Given the description of an element on the screen output the (x, y) to click on. 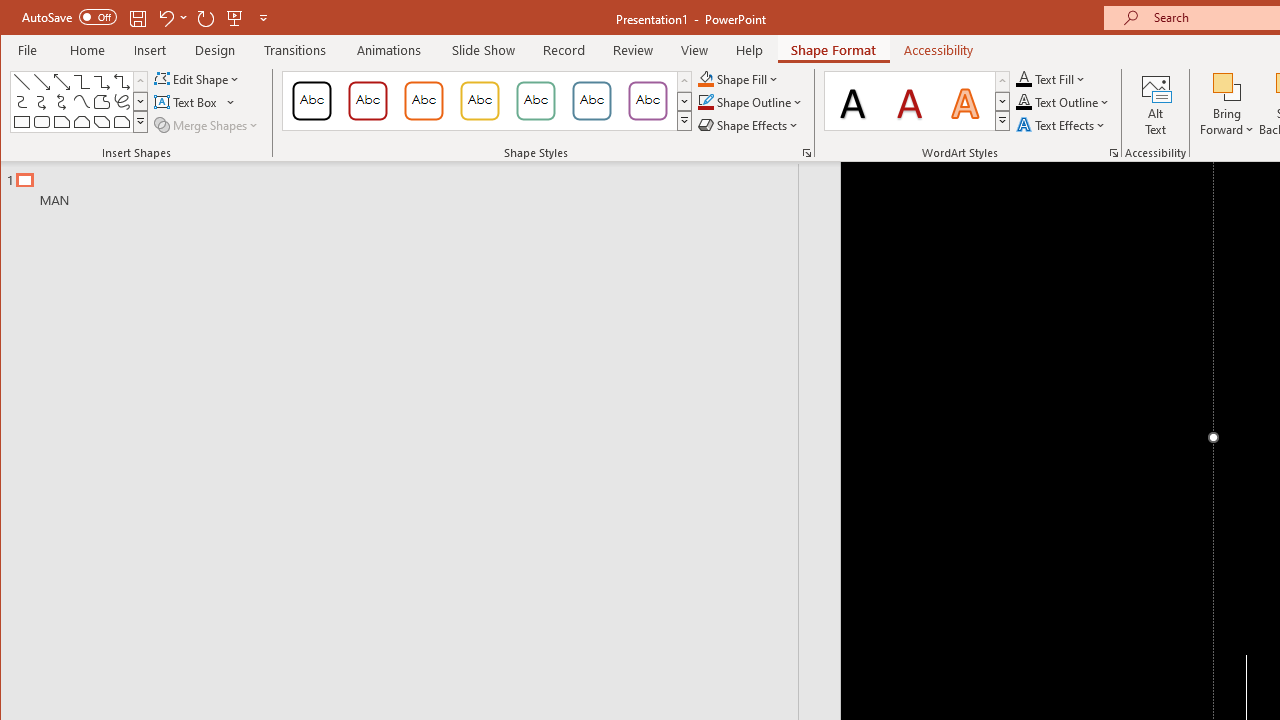
Line Arrow: Double (61, 82)
Text Outline (1062, 101)
Colored Outline - Black, Dark 1 (312, 100)
Text Outline RGB(0, 0, 0) (1023, 101)
Format Text Effects... (1113, 152)
Text Fill RGB(0, 0, 0) (1023, 78)
